Given the description of an element on the screen output the (x, y) to click on. 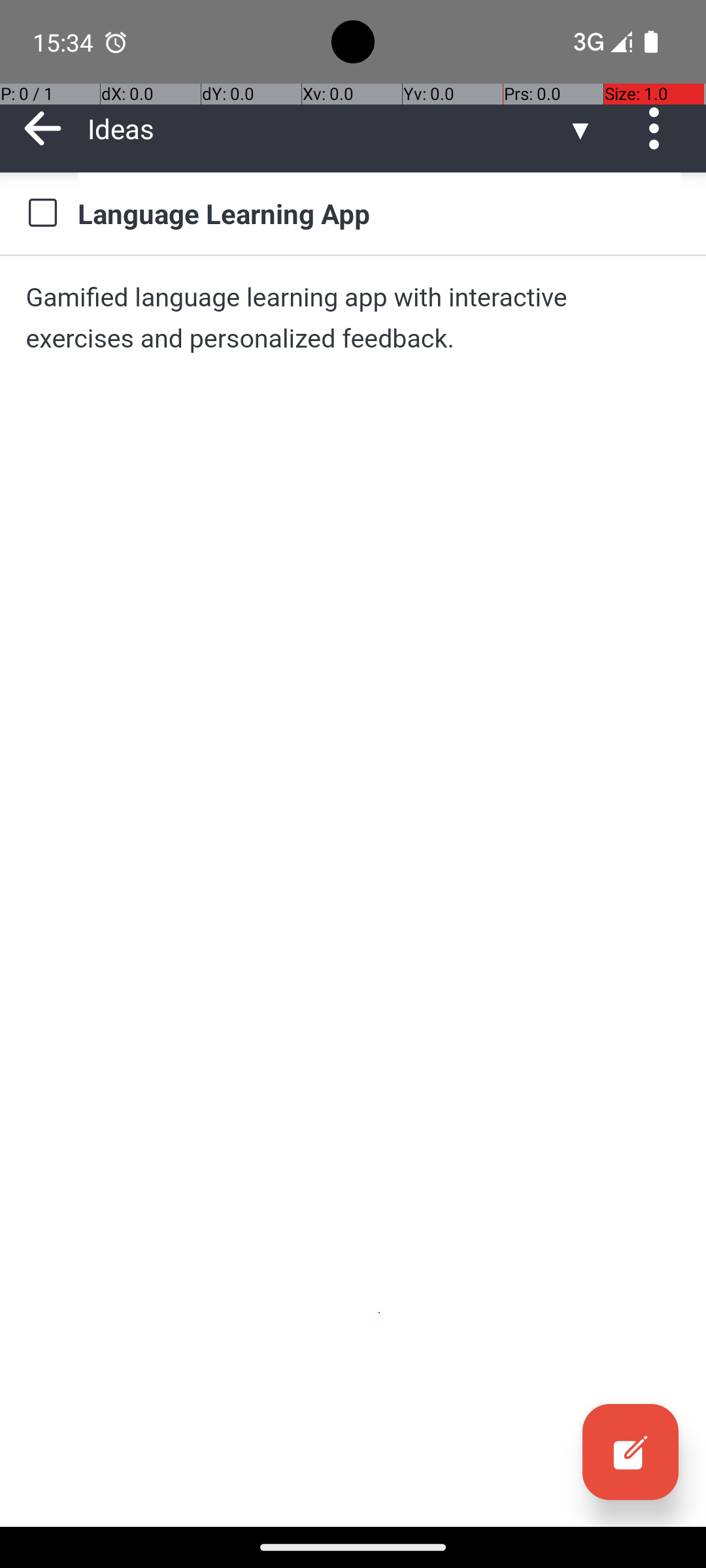
Gamified language learning app with interactive exercises and personalized feedback. Element type: android.widget.TextView (352, 317)
